Given the description of an element on the screen output the (x, y) to click on. 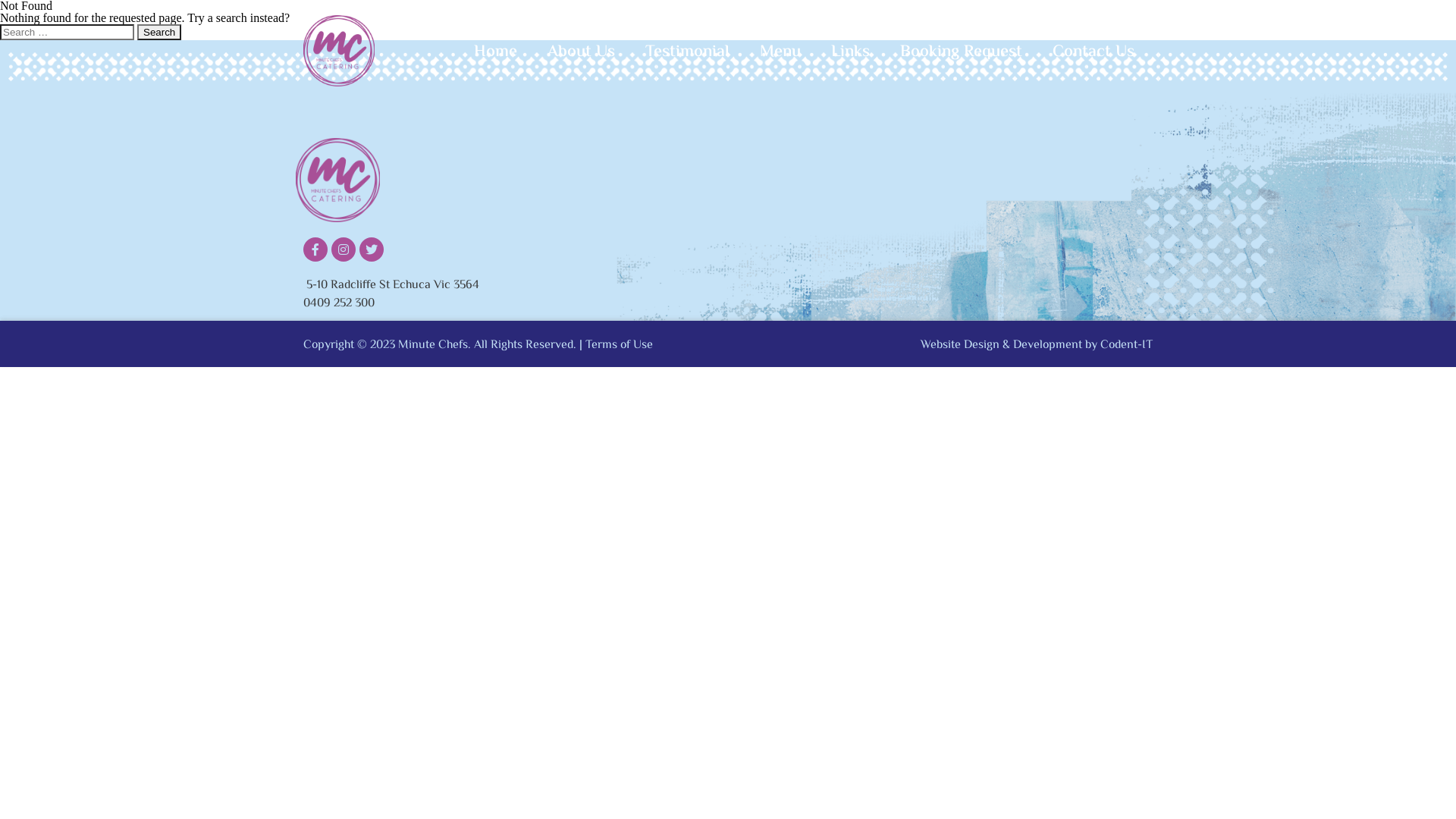
Booking Request Element type: text (960, 51)
Links Element type: text (849, 51)
0409 252 300 Element type: text (338, 303)
Contact Us Element type: text (1093, 51)
Home Element type: text (495, 51)
Menu Element type: text (779, 51)
Terms of Use Element type: text (618, 344)
Website Design & Development by Codent-IT Element type: text (1036, 344)
About Us Element type: text (581, 51)
Search Element type: text (159, 32)
Testimonial Element type: text (687, 51)
